Given the description of an element on the screen output the (x, y) to click on. 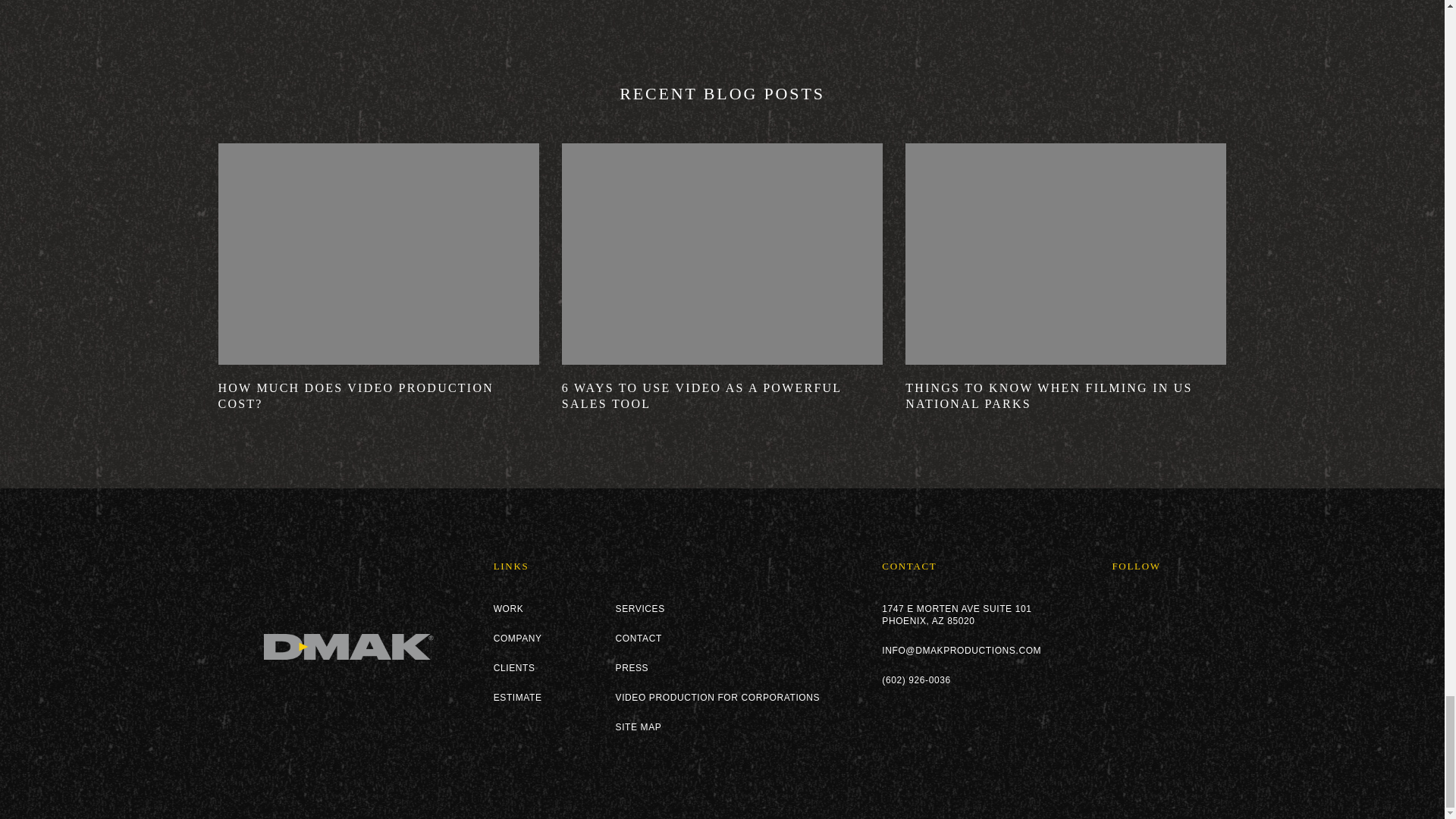
HOW MUCH DOES VIDEO PRODUCTION COST? (378, 396)
